Given the description of an element on the screen output the (x, y) to click on. 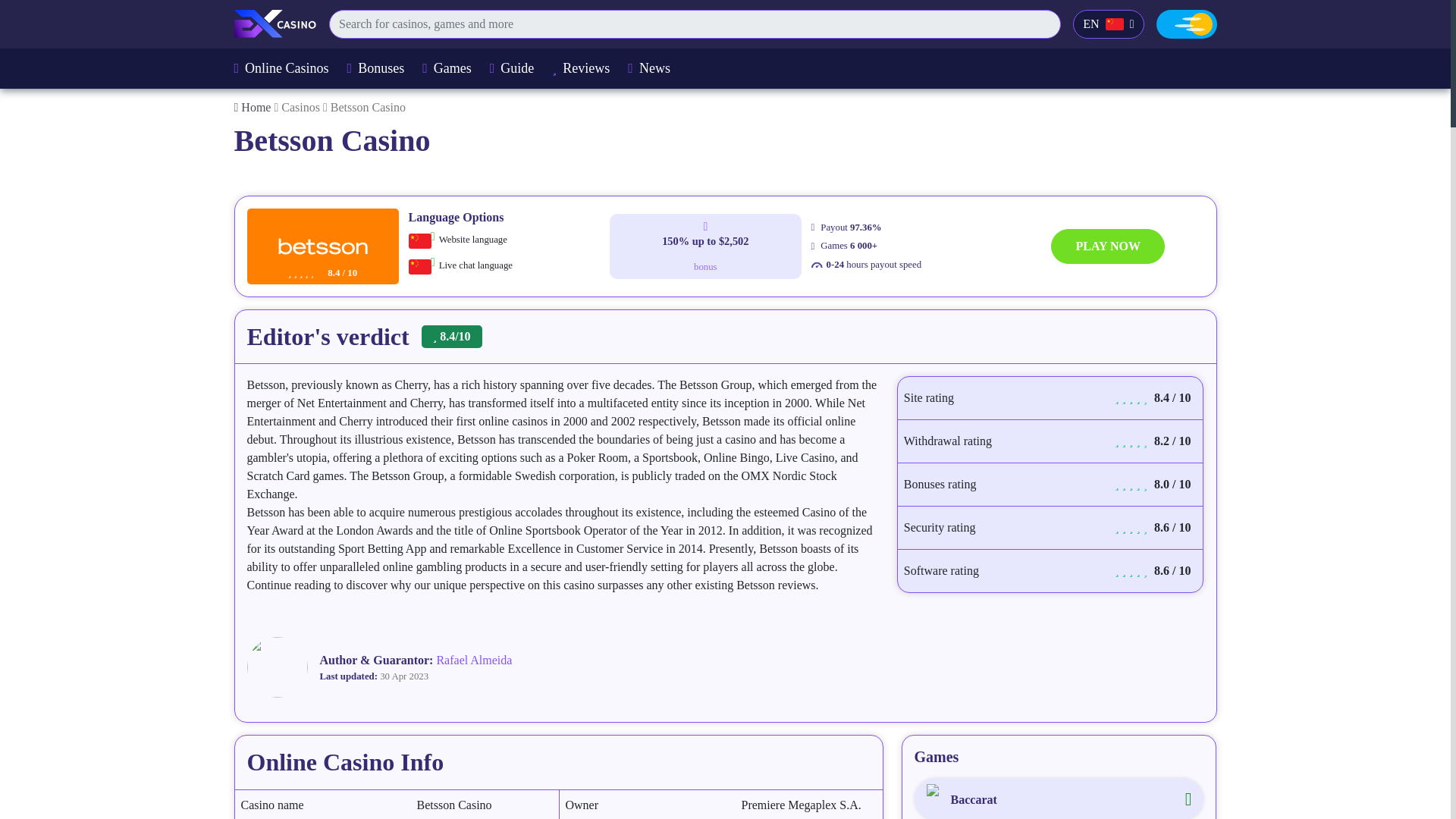
Reviews (580, 68)
Casinos (302, 106)
EX.Casino - Guide for Online Casino (274, 22)
Games (446, 68)
Guide (511, 68)
Home (252, 106)
Bonuses (375, 68)
EN (1107, 23)
News (648, 68)
Online Casinos (280, 68)
